Given the description of an element on the screen output the (x, y) to click on. 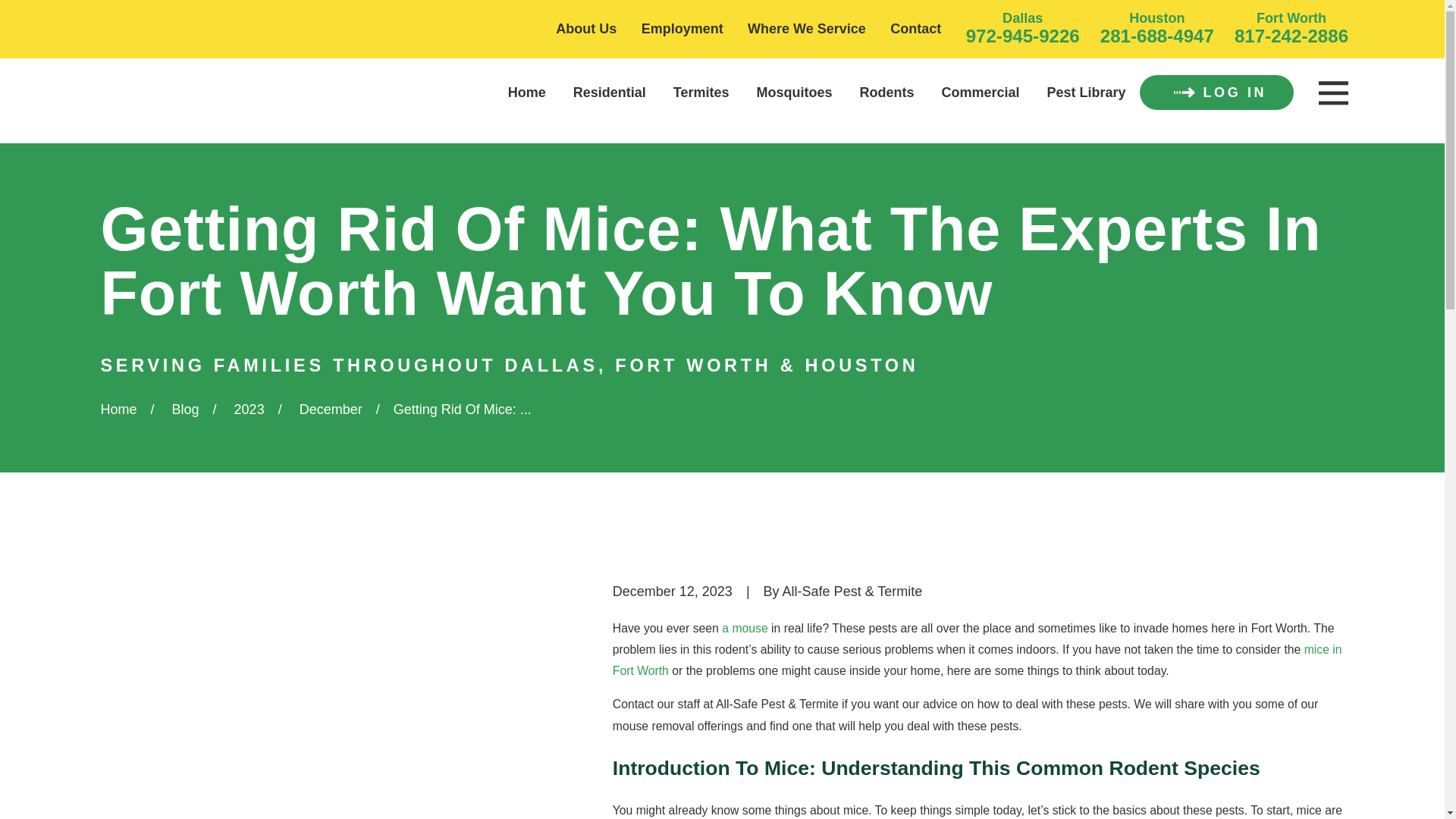
Contact (914, 28)
Termites (700, 92)
972-945-9226 (1023, 35)
Home (172, 85)
Commercial (981, 92)
Employment (682, 28)
Pest Library (1085, 92)
Where We Service (807, 28)
281-688-4947 (1157, 35)
Residential (609, 92)
